Given the description of an element on the screen output the (x, y) to click on. 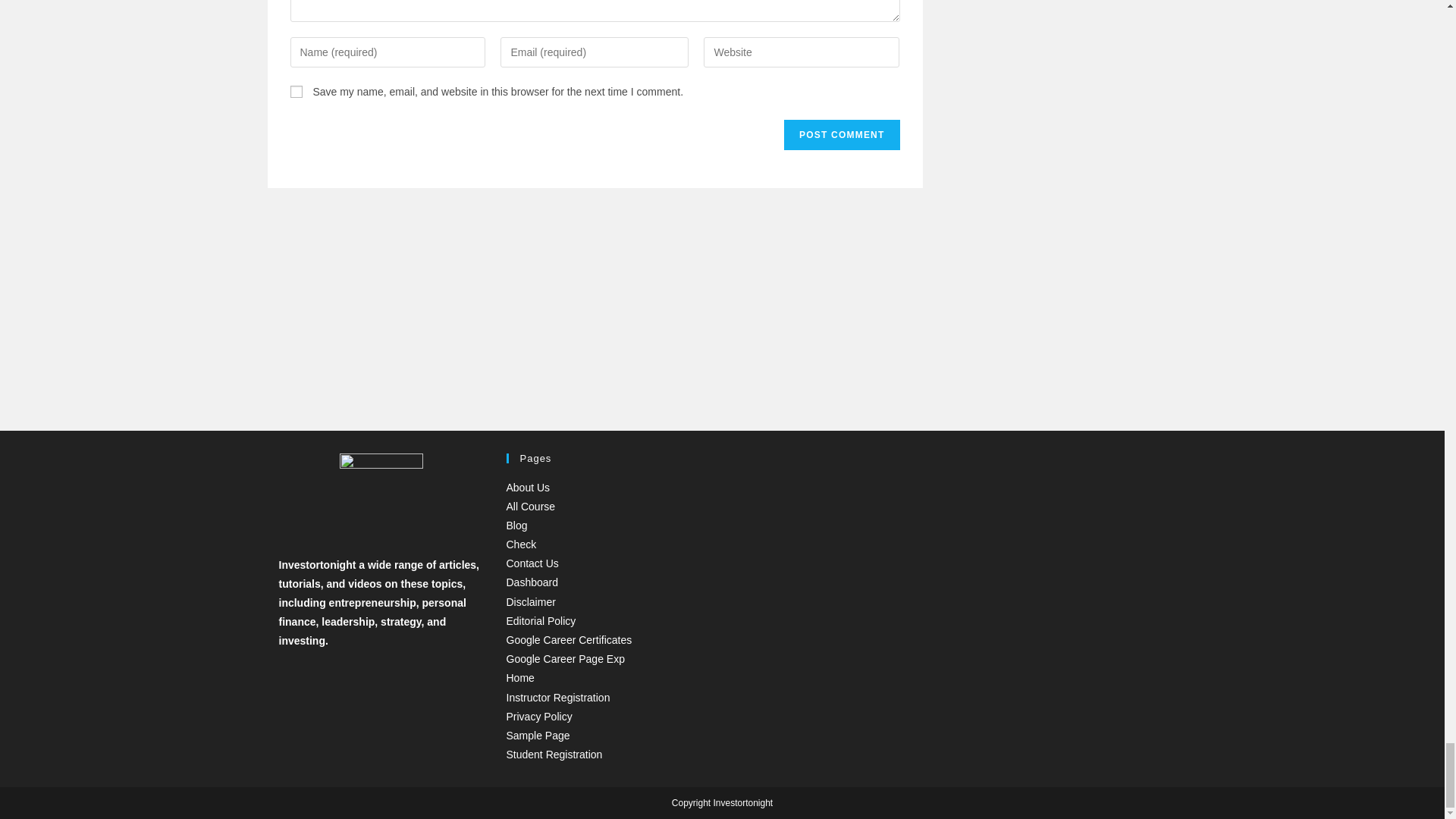
yes (295, 91)
Post Comment (841, 134)
